Given the description of an element on the screen output the (x, y) to click on. 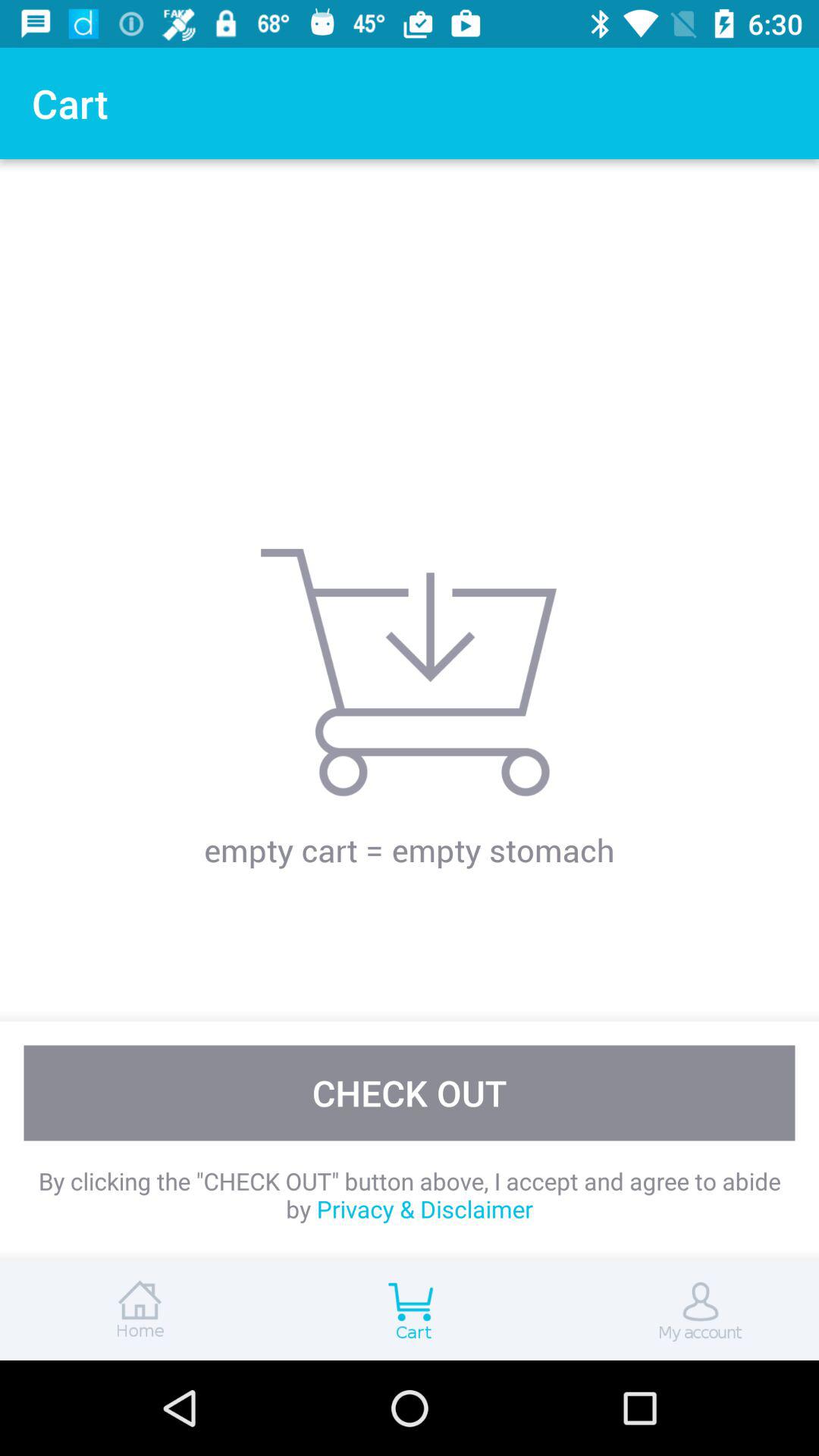
press icon below check out (409, 1194)
